Given the description of an element on the screen output the (x, y) to click on. 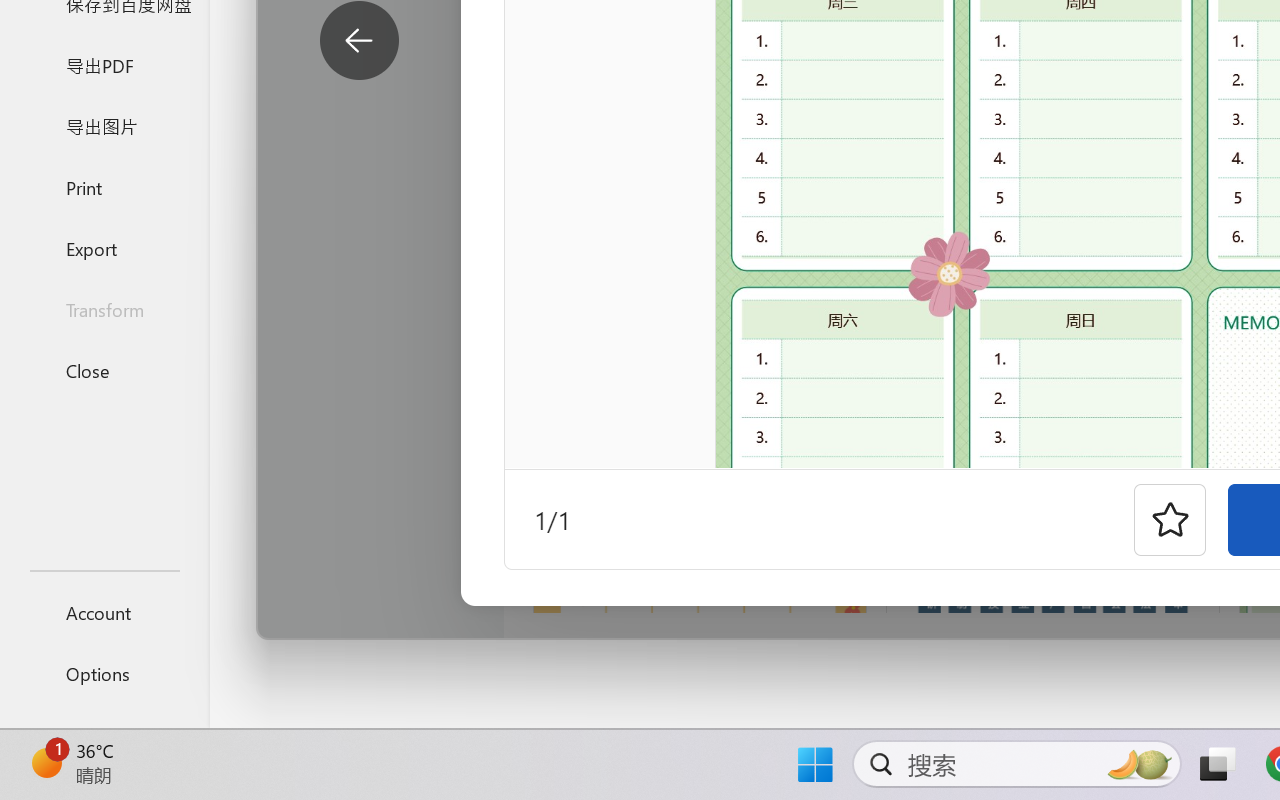
Options (104, 673)
Account (104, 612)
Export (104, 248)
Transform (104, 309)
